Given the description of an element on the screen output the (x, y) to click on. 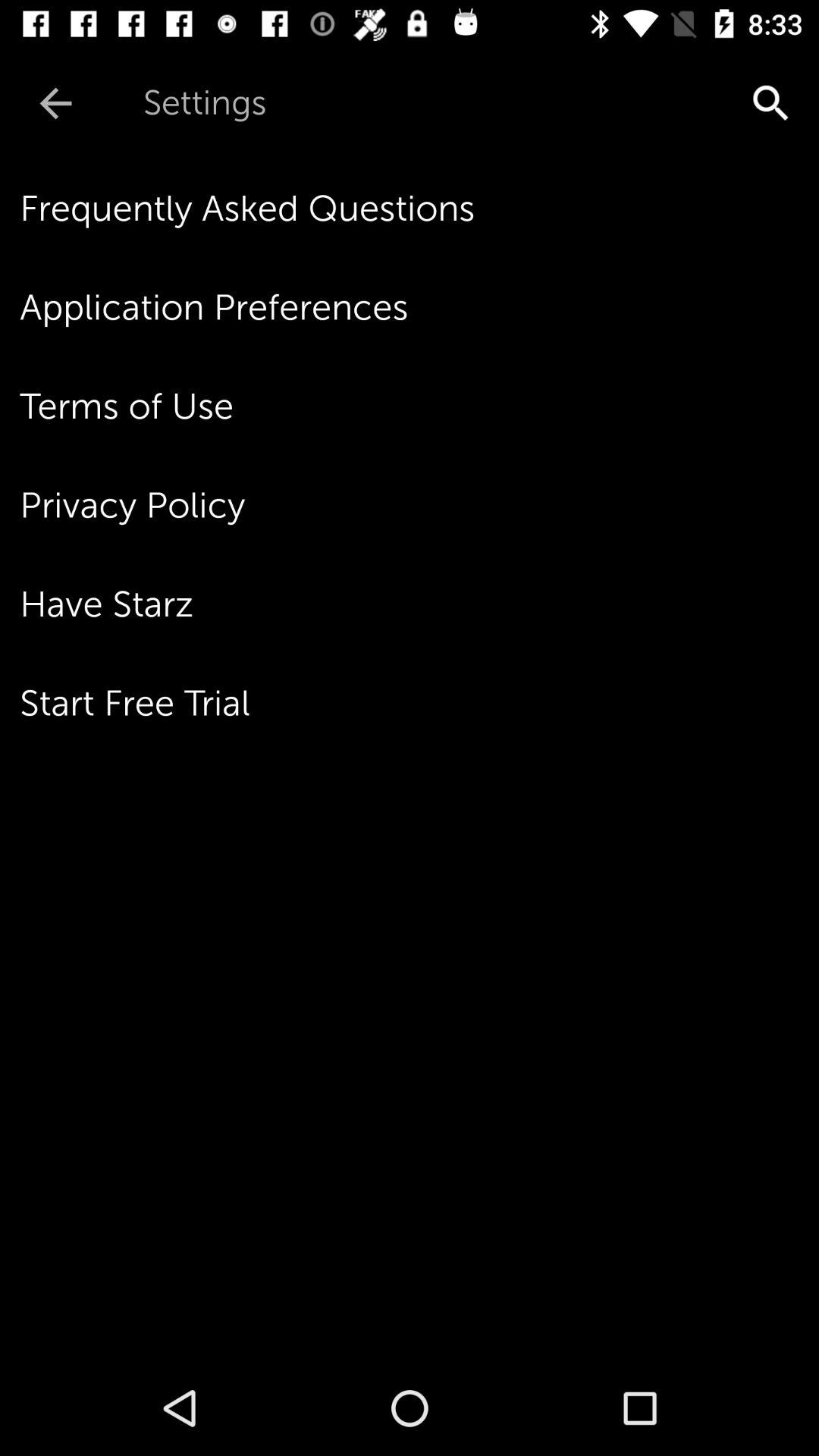
select the icon below the application preferences item (419, 406)
